Given the description of an element on the screen output the (x, y) to click on. 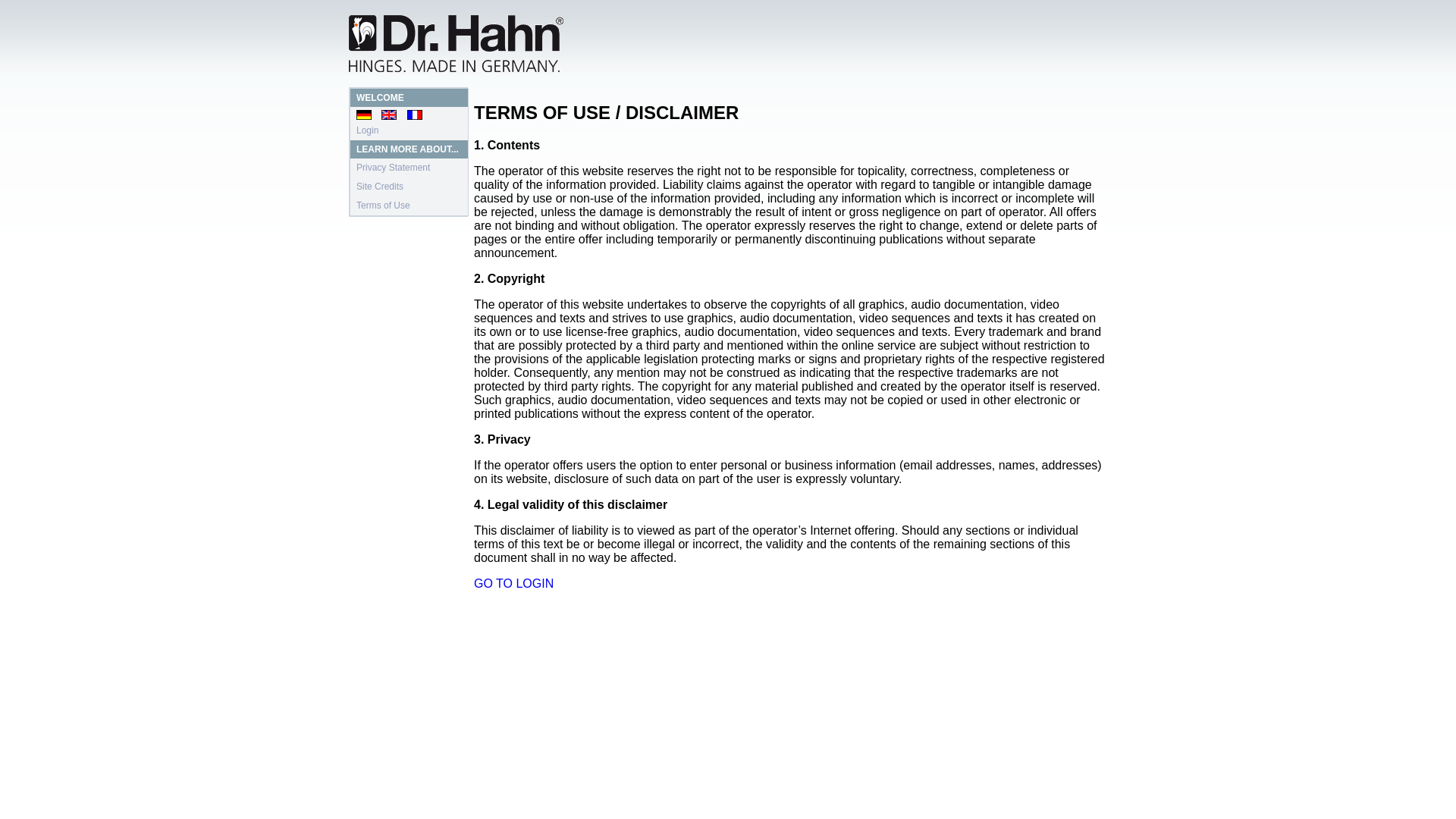
GO TO LOGIN (513, 583)
Privacy Statement (392, 167)
Site Credits (379, 185)
Opens internal link in current window (513, 583)
Terms of Use (383, 204)
Login (367, 130)
